Given the description of an element on the screen output the (x, y) to click on. 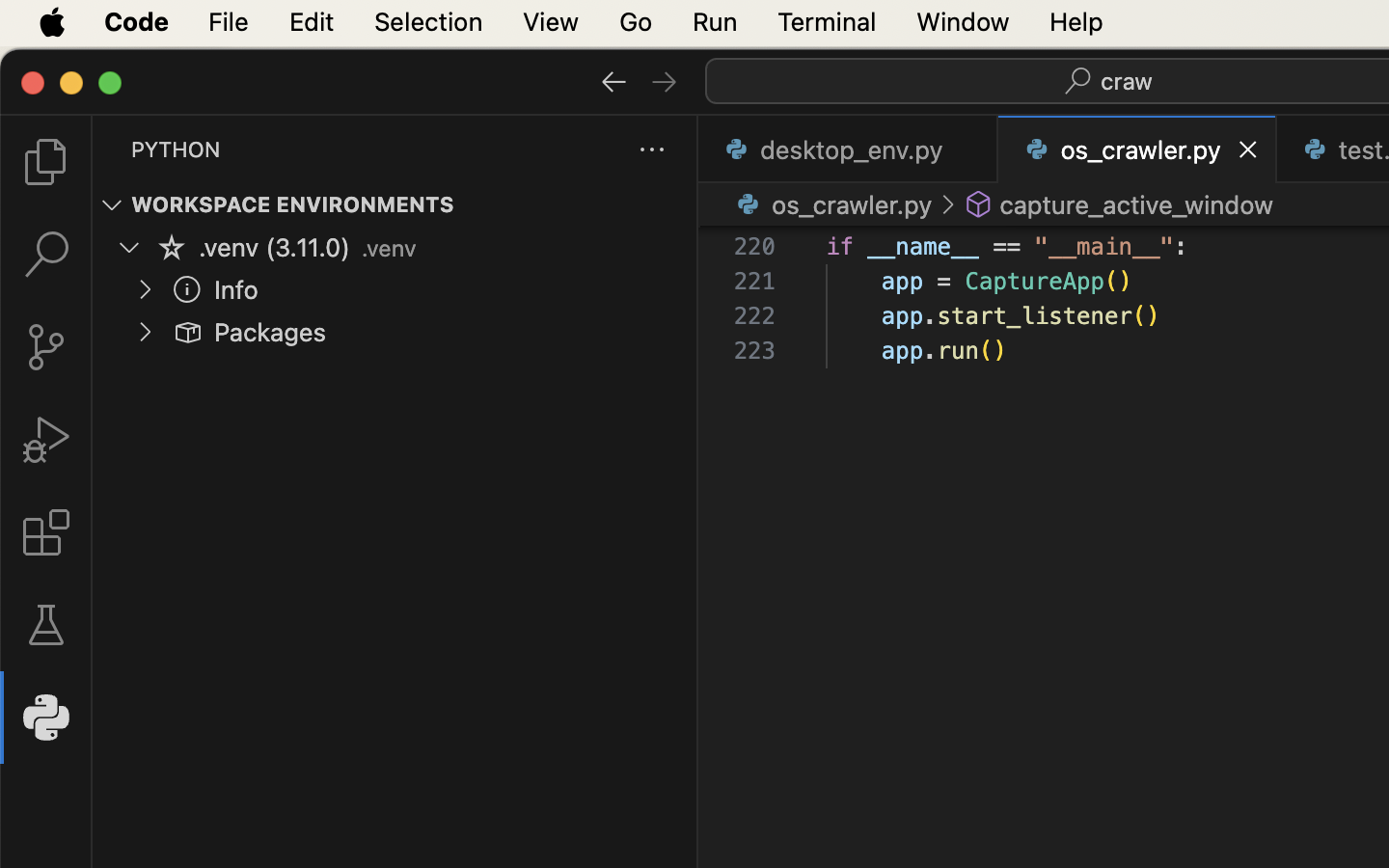
 Element type: AXStaticText (111, 204)
